Given the description of an element on the screen output the (x, y) to click on. 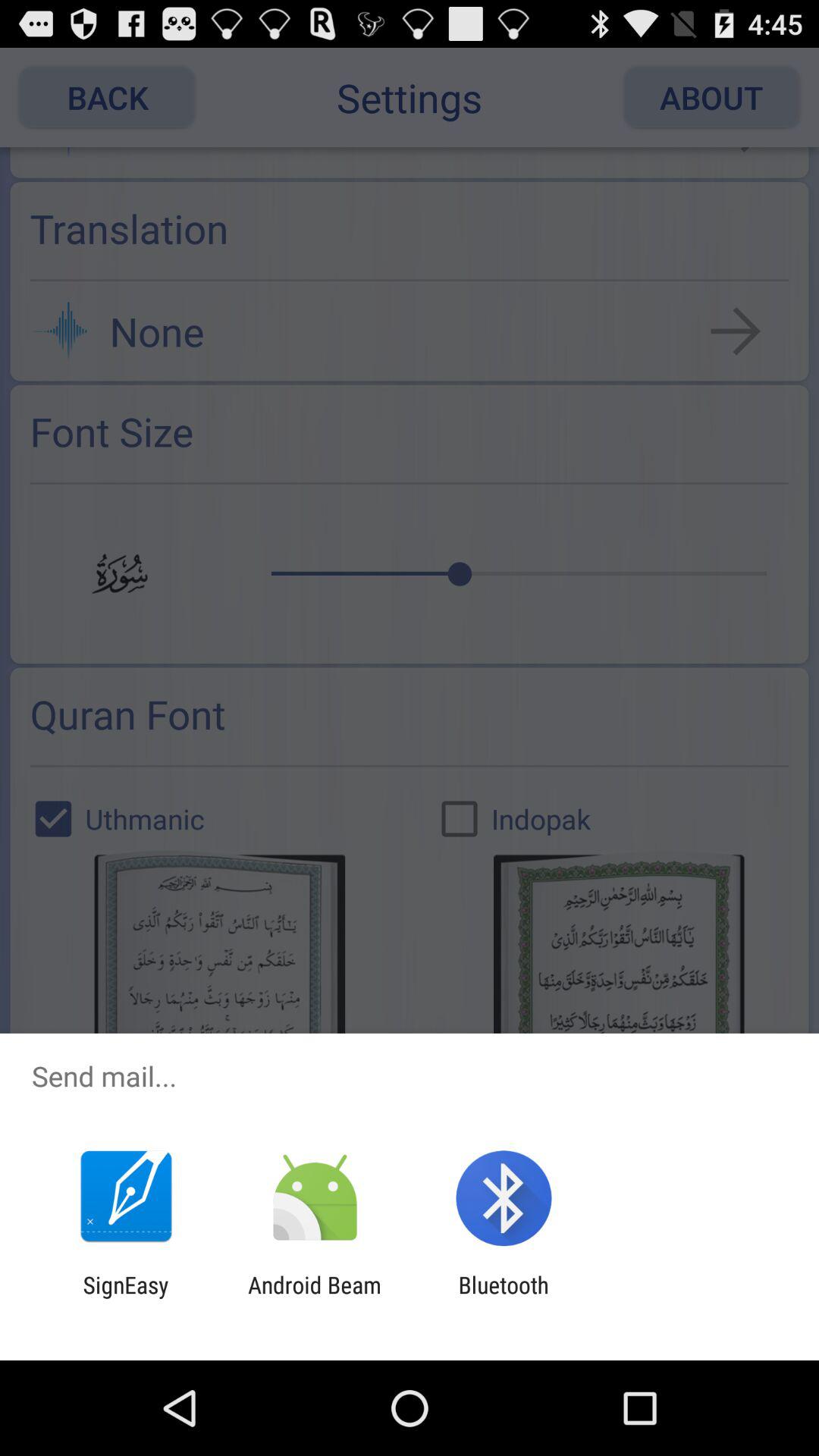
turn on app next to android beam icon (503, 1298)
